Given the description of an element on the screen output the (x, y) to click on. 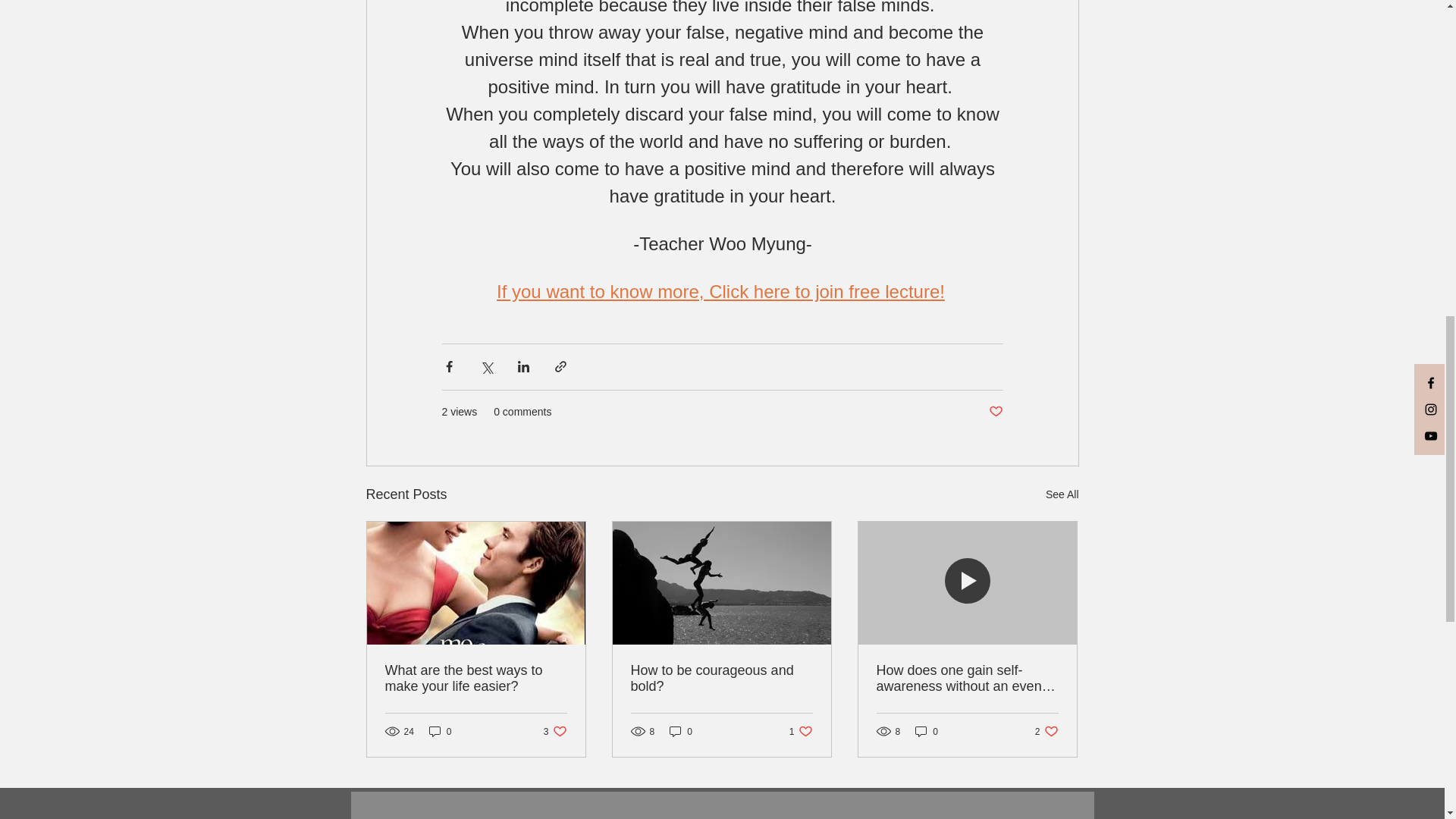
0 (555, 730)
Post not marked as liked (681, 730)
See All (995, 412)
0 (1061, 495)
What are the best ways to make your life easier? (800, 730)
How to be courageous and bold? (926, 730)
If you want to know more, Click here to join free lecture! (476, 678)
0 (721, 678)
